Given the description of an element on the screen output the (x, y) to click on. 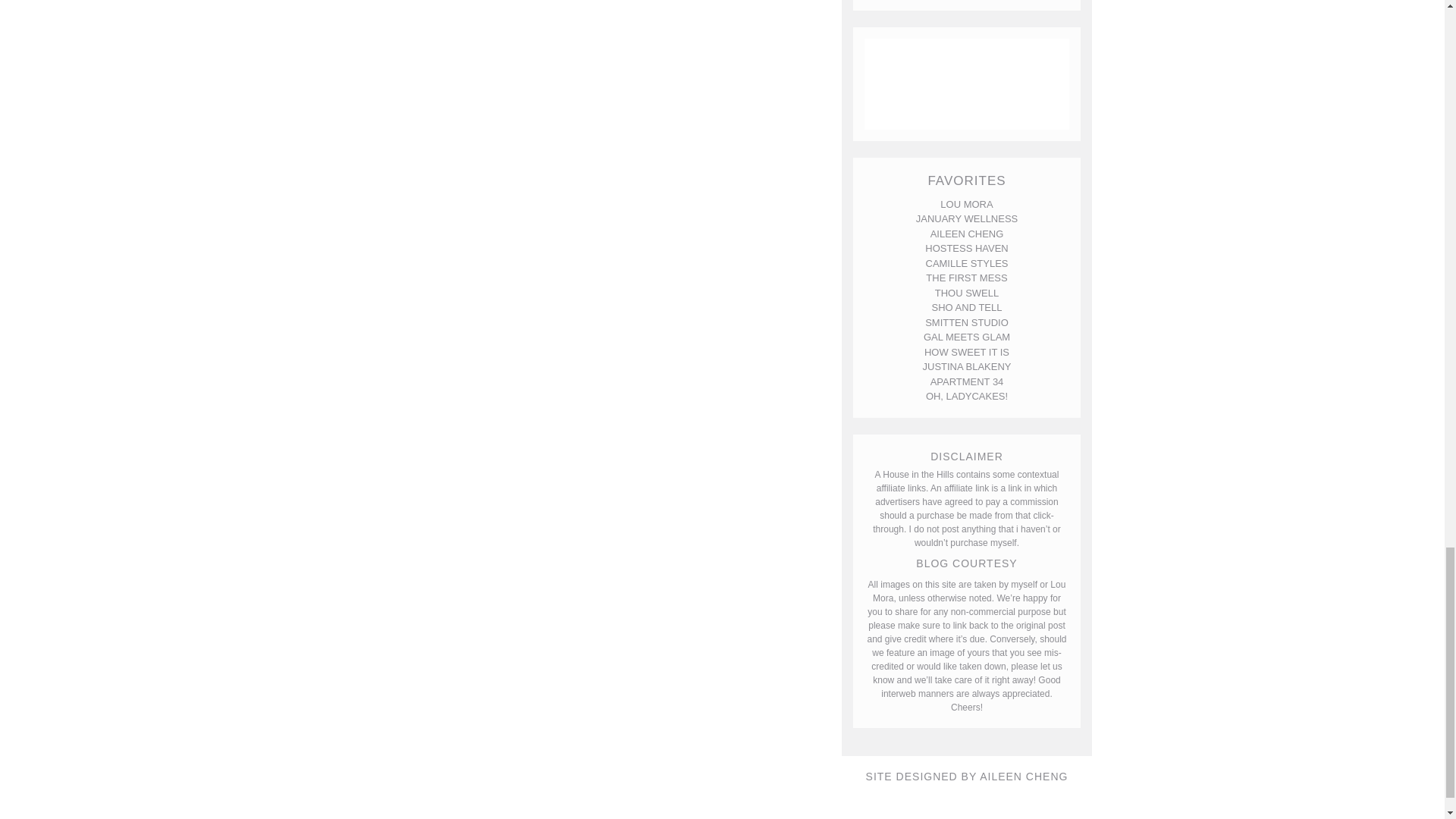
Hostess Haven (965, 247)
